Given the description of an element on the screen output the (x, y) to click on. 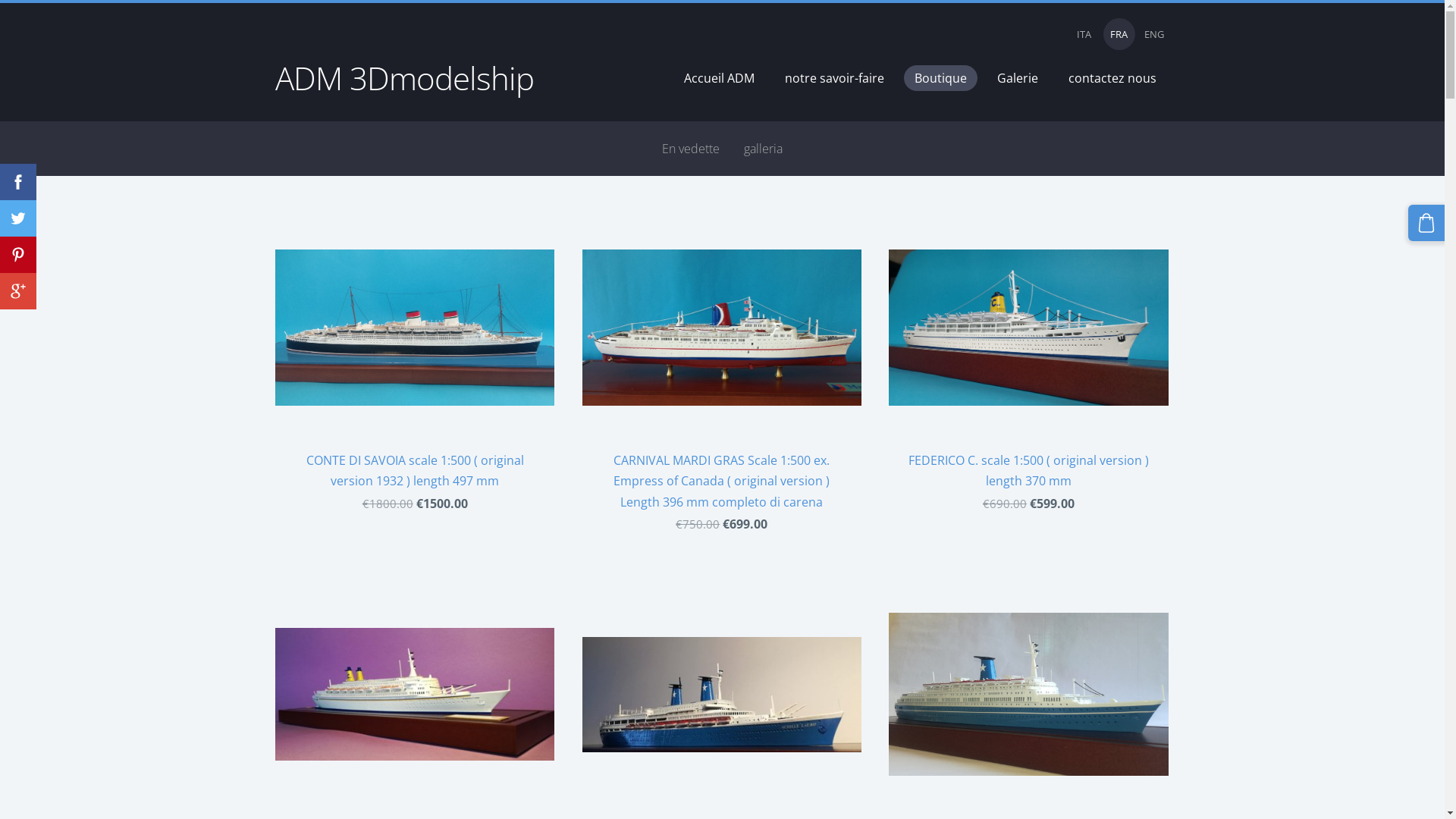
FEDERICO C. scale 1:500 ( original version ) length 370 mm Element type: text (1027, 354)
Share Element type: hover (18, 181)
FRA Element type: text (1118, 34)
Tweet Element type: hover (18, 218)
Accueil ADM Element type: text (719, 78)
notre savoir-faire Element type: text (833, 78)
Pin Element type: hover (18, 254)
En vedette Element type: text (690, 148)
contactez nous Element type: text (1111, 78)
Boutique Element type: text (940, 78)
ADM 3Dmodelship Element type: text (403, 85)
Share Element type: hover (18, 291)
Galerie Element type: text (1016, 78)
galleria Element type: text (763, 148)
ITA Element type: text (1083, 34)
ENG Element type: text (1153, 34)
